Given the description of an element on the screen output the (x, y) to click on. 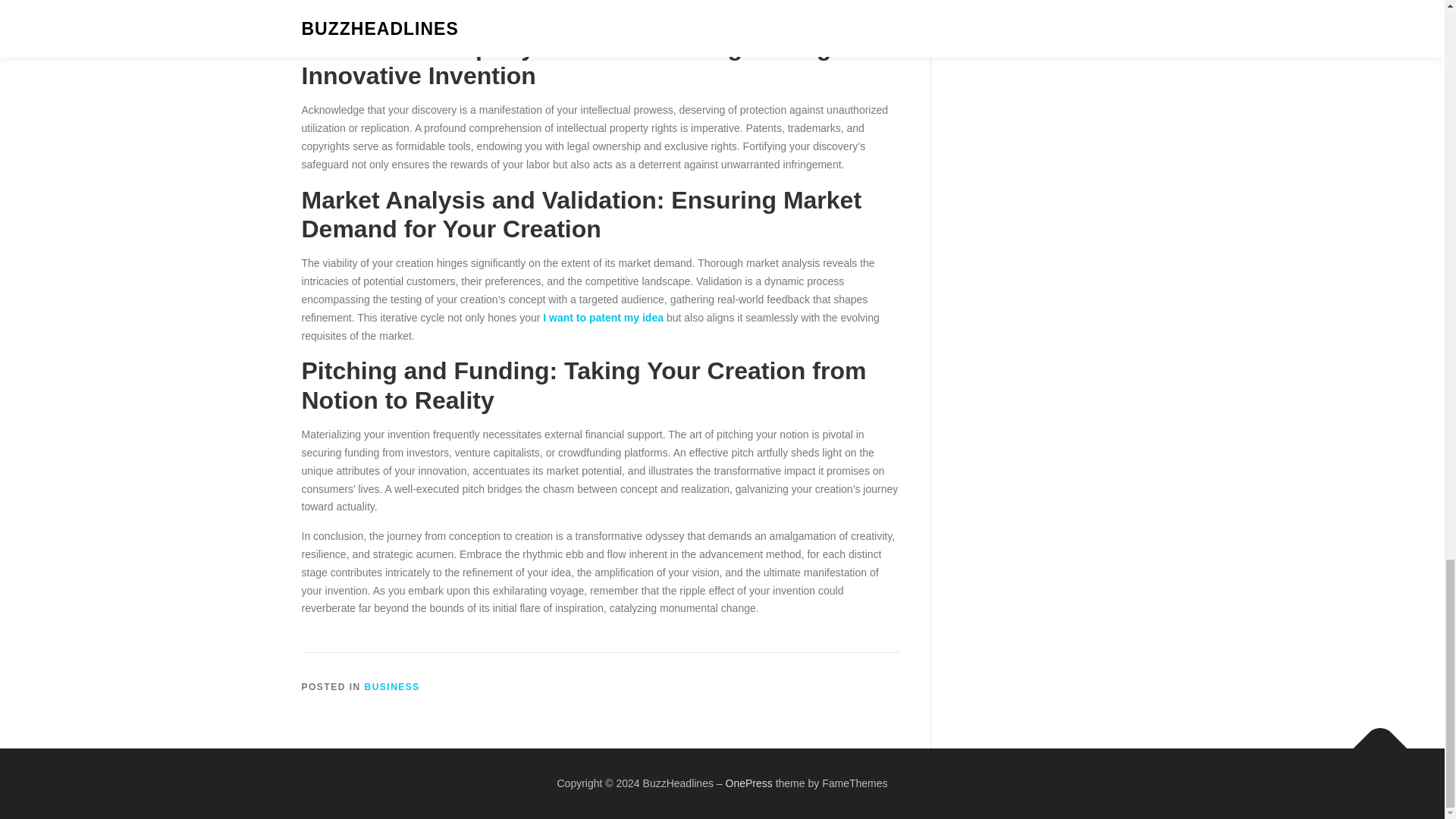
Back To Top (1372, 740)
I want to patent my idea (603, 317)
BUSINESS (392, 686)
